Given the description of an element on the screen output the (x, y) to click on. 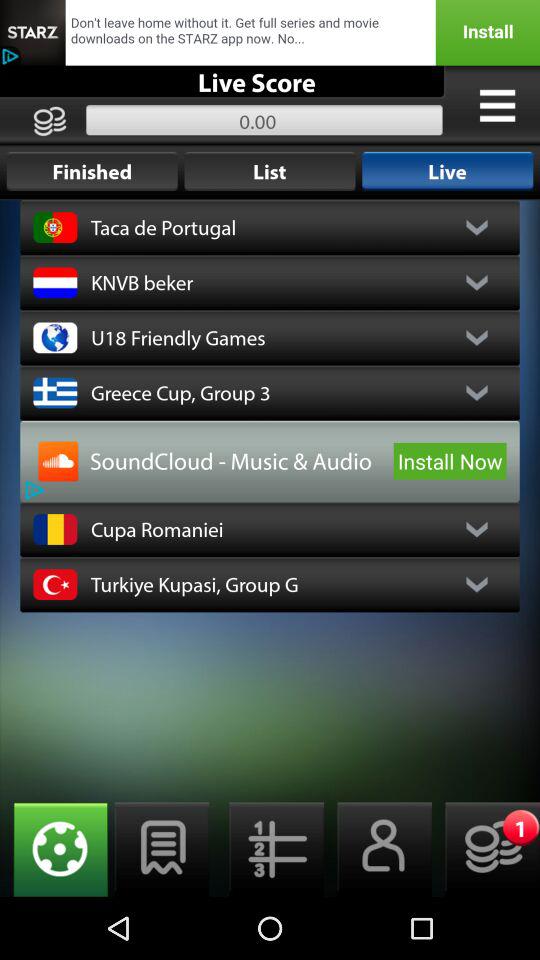
go to profile (378, 849)
